Given the description of an element on the screen output the (x, y) to click on. 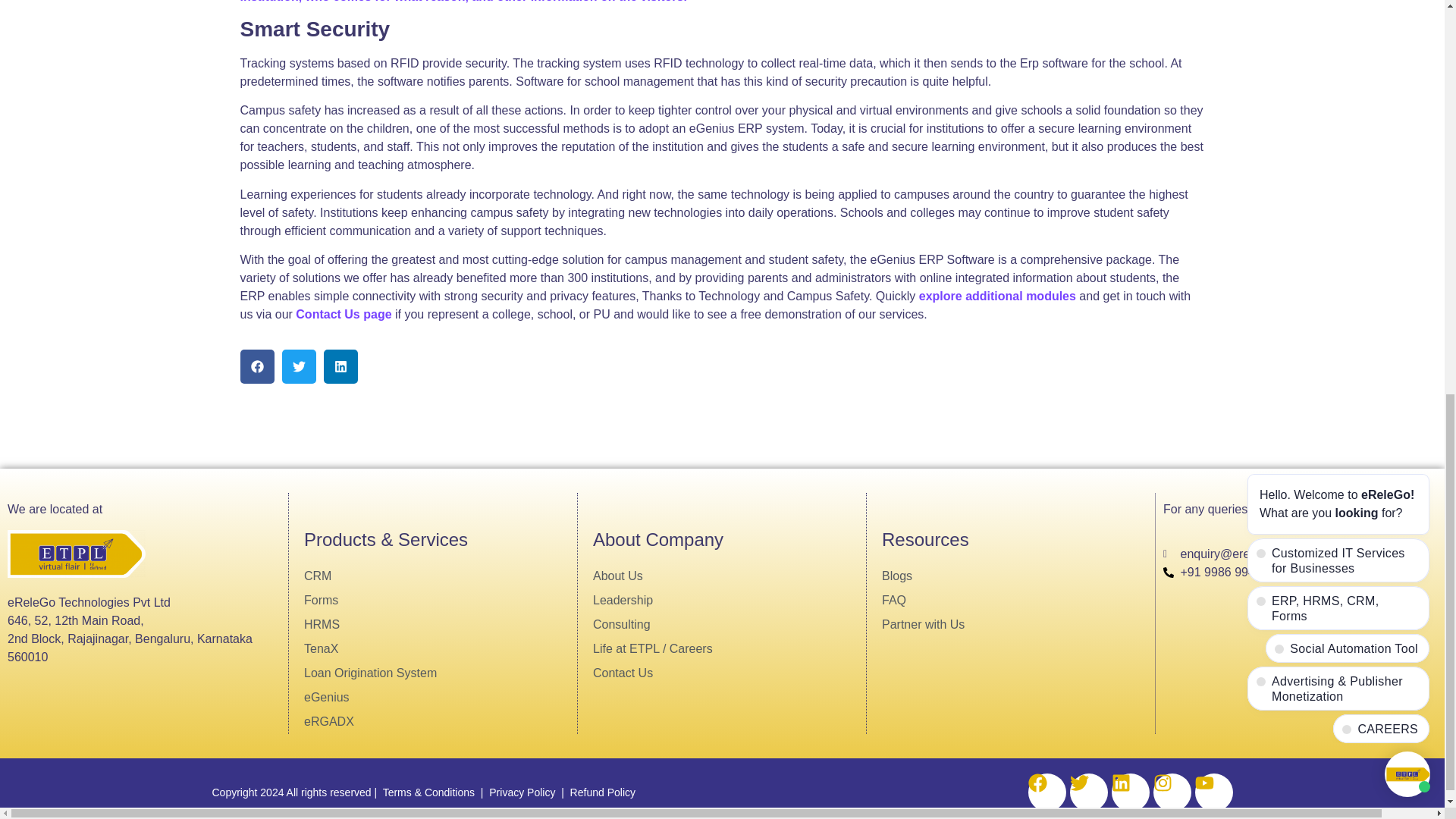
CRM (440, 576)
explore additional modules (996, 295)
Contact Us page (344, 314)
